Given the description of an element on the screen output the (x, y) to click on. 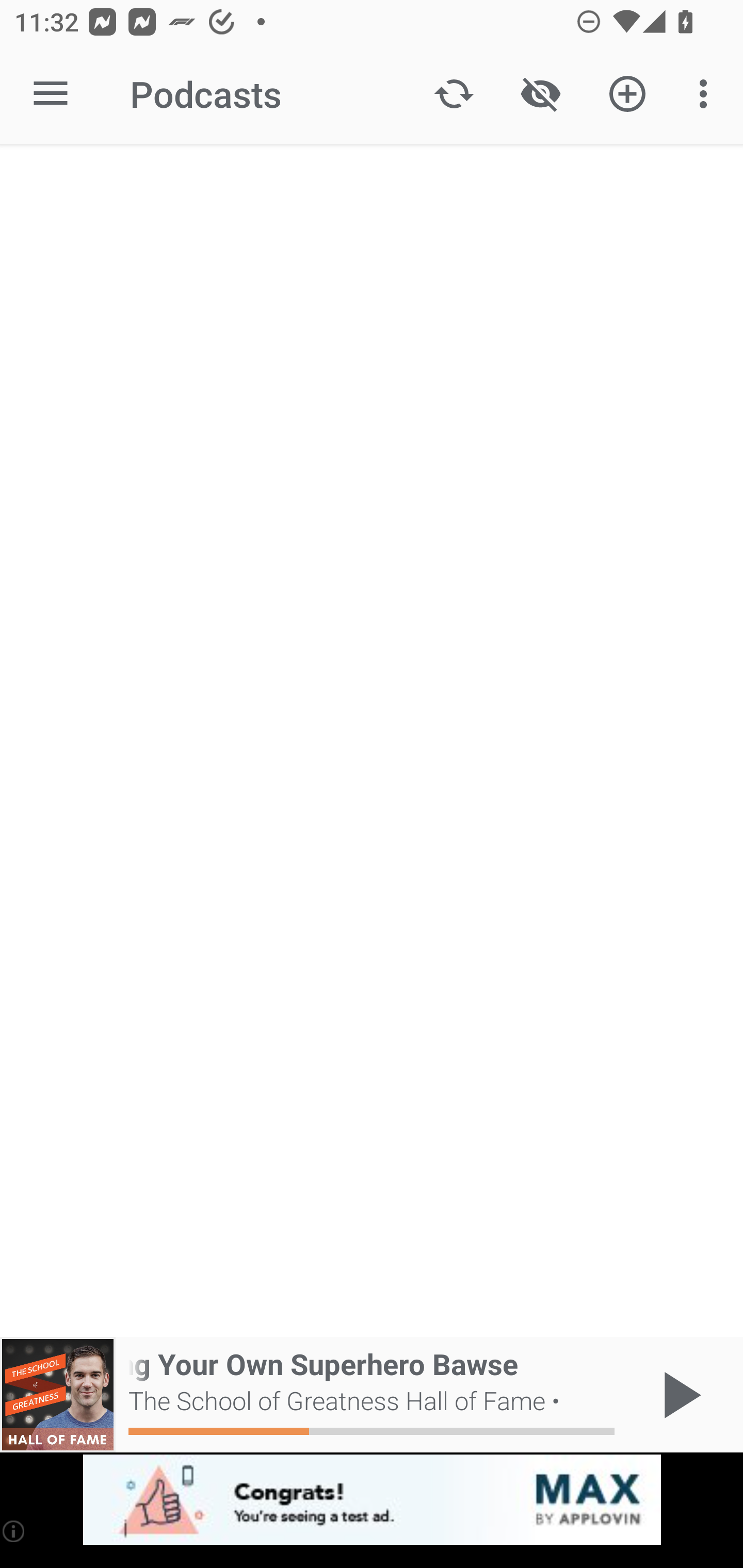
Open navigation sidebar (50, 93)
Update (453, 93)
Show / Hide played content (540, 93)
Add new Podcast (626, 93)
More options (706, 93)
Play / Pause (677, 1394)
app-monetization (371, 1500)
(i) (14, 1531)
